Given the description of an element on the screen output the (x, y) to click on. 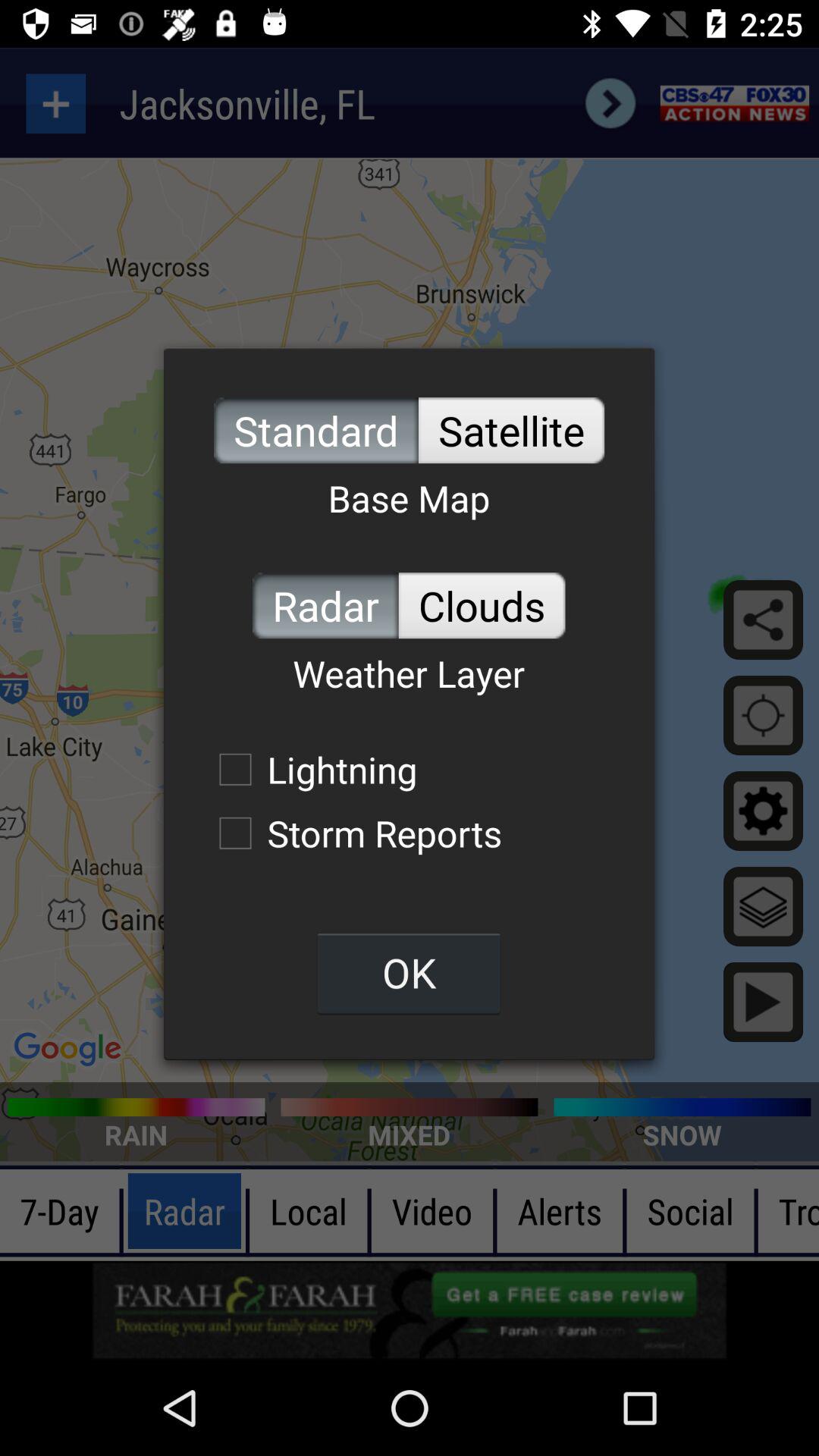
scroll to the standard (315, 430)
